Given the description of an element on the screen output the (x, y) to click on. 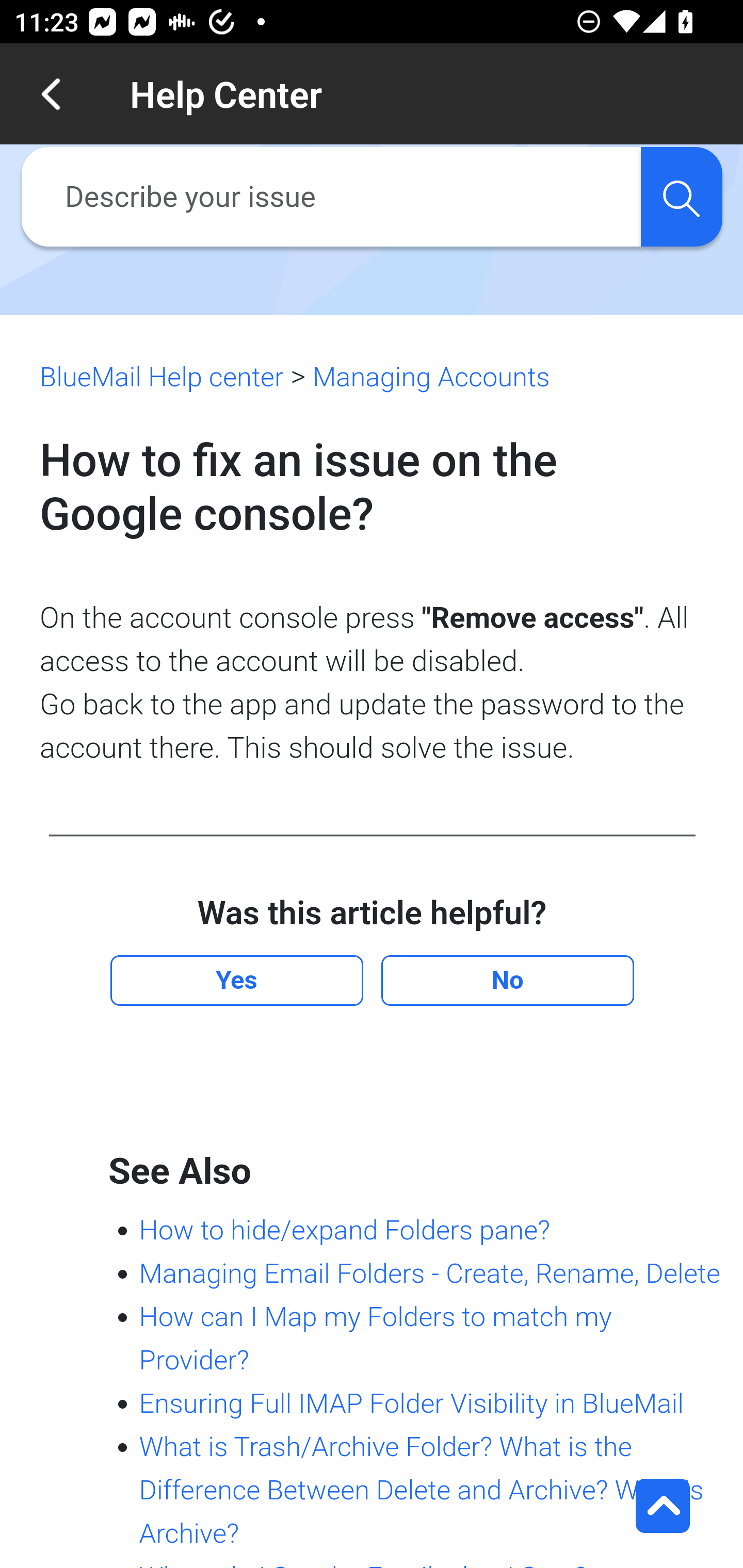
Navigate up (50, 93)
search (680, 196)
BlueMail Help center BlueMail  Help center (162, 376)
Managing Accounts (430, 376)
Yes (236, 980)
No (507, 980)
How to hide/expand Folders pane? (343, 1229)
Managing Email Folders - Create, Rename, Delete (429, 1272)
How can I Map my Folders to match my Provider? (374, 1337)
Ensuring Full IMAP Folder Visibility in BlueMail (410, 1403)
